Given the description of an element on the screen output the (x, y) to click on. 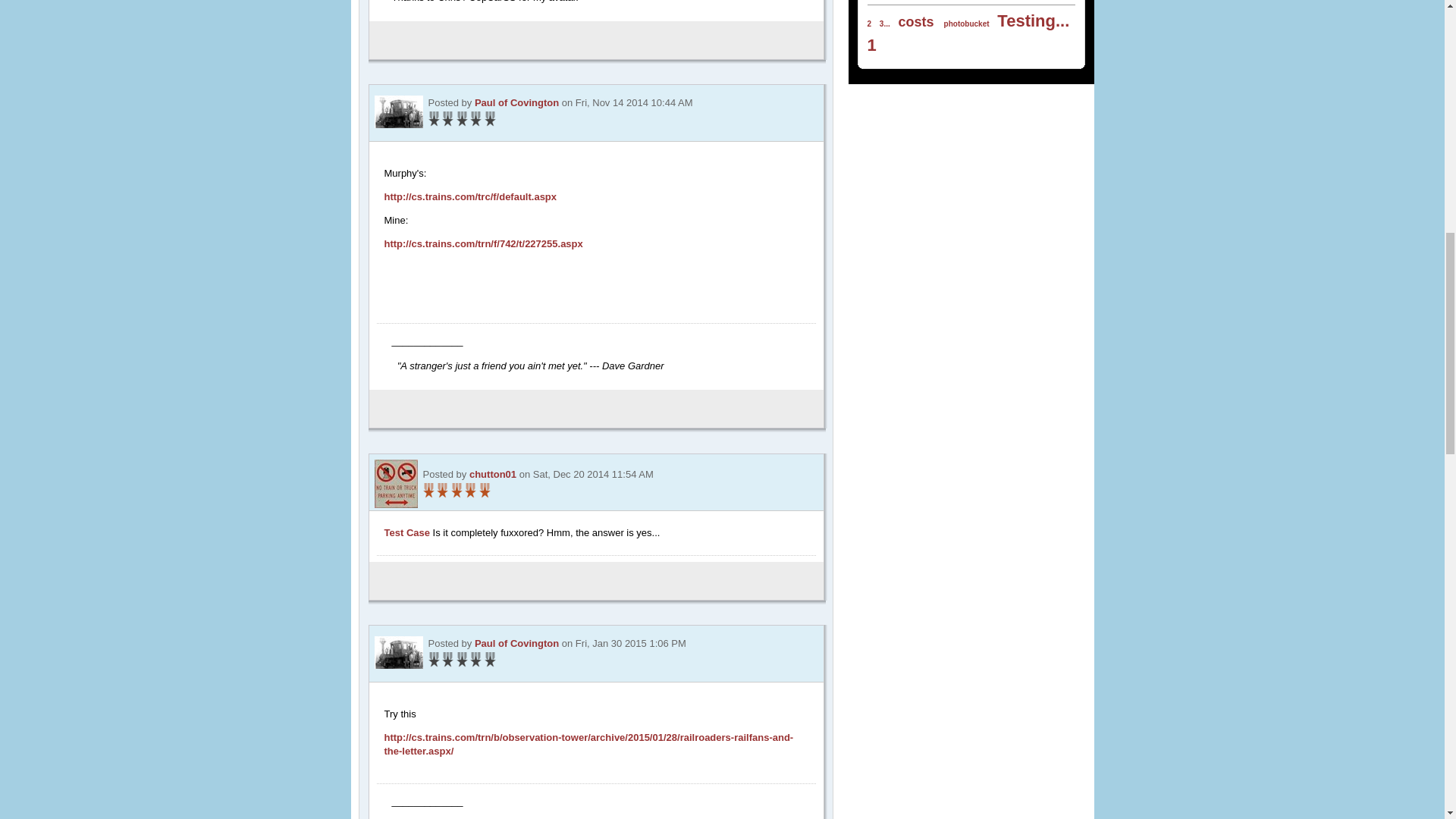
costs (916, 21)
photobucket (966, 23)
Testing... 1 (968, 32)
3... (884, 23)
